Given the description of an element on the screen output the (x, y) to click on. 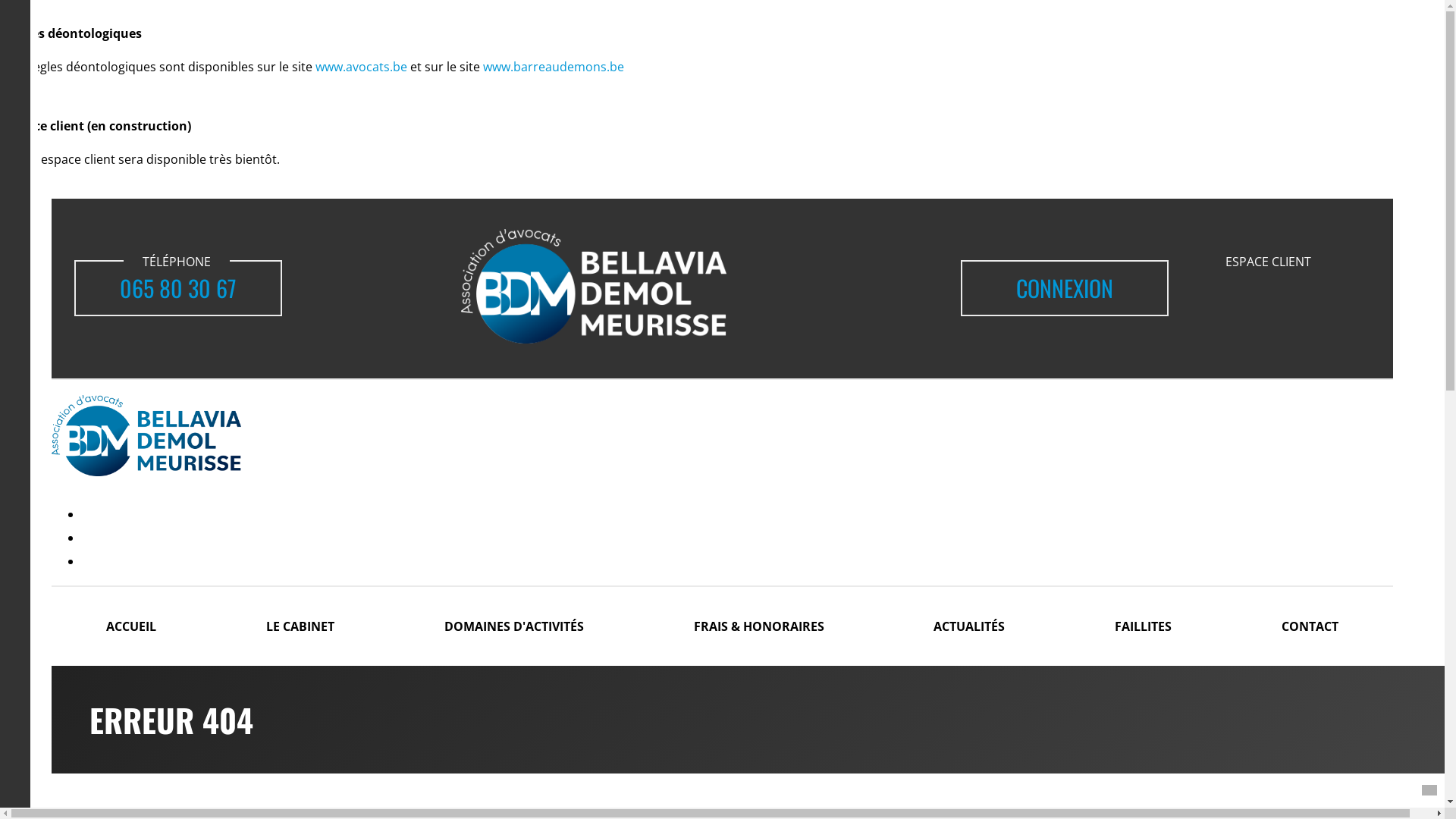
FAILLITES Element type: text (1143, 626)
LE CABINET Element type: text (300, 626)
065 80 30 67 Element type: text (178, 288)
www.barreaudemons.be Element type: text (553, 66)
CONNEXION Element type: text (1064, 288)
www.avocats.be Element type: text (361, 66)
ACCUEIL Element type: text (131, 626)
CONTACT Element type: text (1309, 626)
FRAIS & HONORAIRES Element type: text (758, 626)
